Given the description of an element on the screen output the (x, y) to click on. 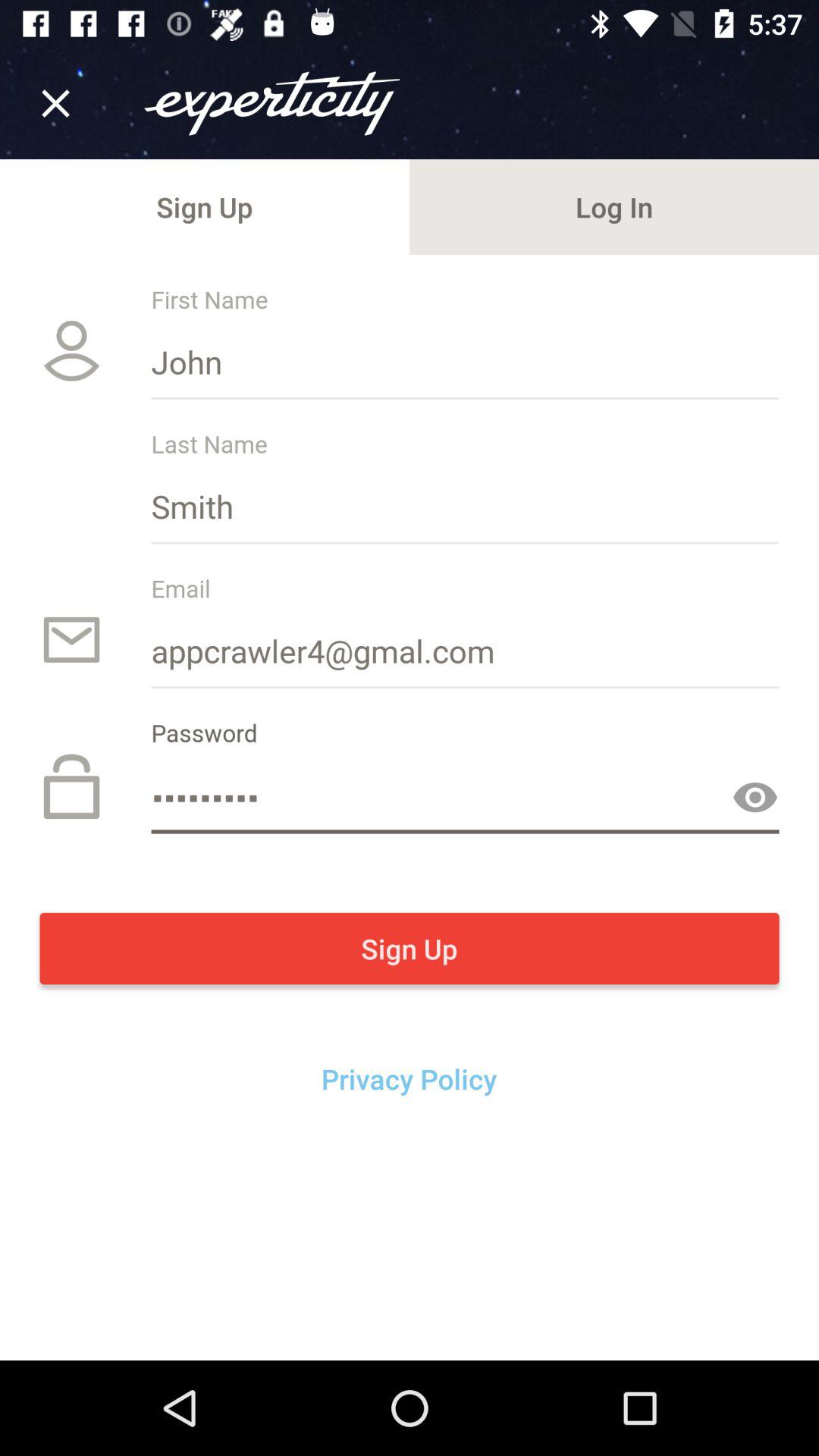
toggle a uncover option (755, 797)
